Given the description of an element on the screen output the (x, y) to click on. 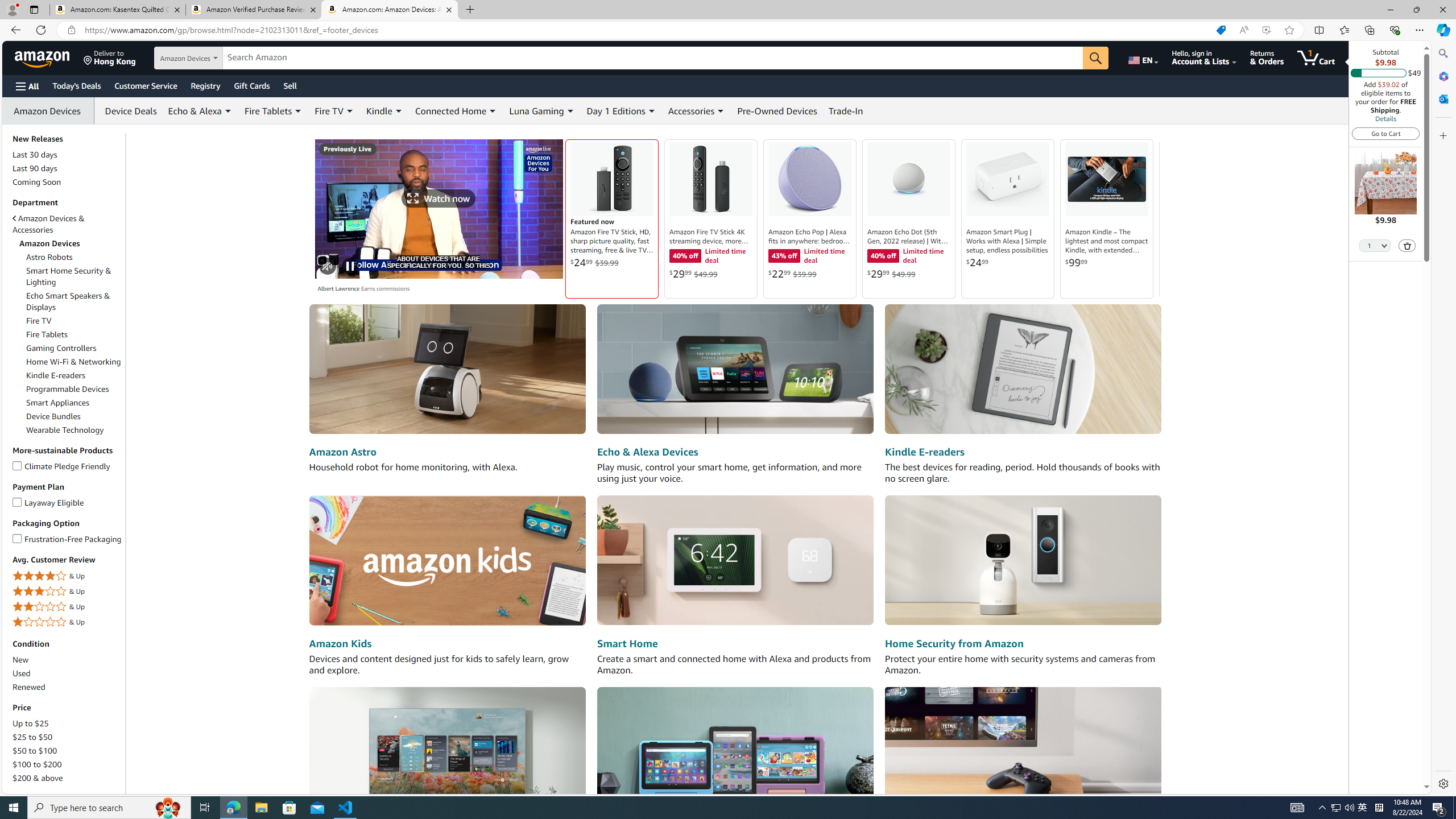
Quantity Selector (1374, 245)
Fire Tablets (74, 333)
Layaway EligibleLayaway Eligible (67, 502)
Kindle E-readers (923, 451)
Gaming Controllers (74, 347)
Astro Robots (49, 257)
3 Stars & Up& Up (67, 591)
Watch now (438, 208)
Device Bundles (53, 416)
Amazon Kids (447, 560)
Disable Closed Captions (548, 267)
Device Deals (128, 110)
Day 1 Editions (615, 110)
